Given the description of an element on the screen output the (x, y) to click on. 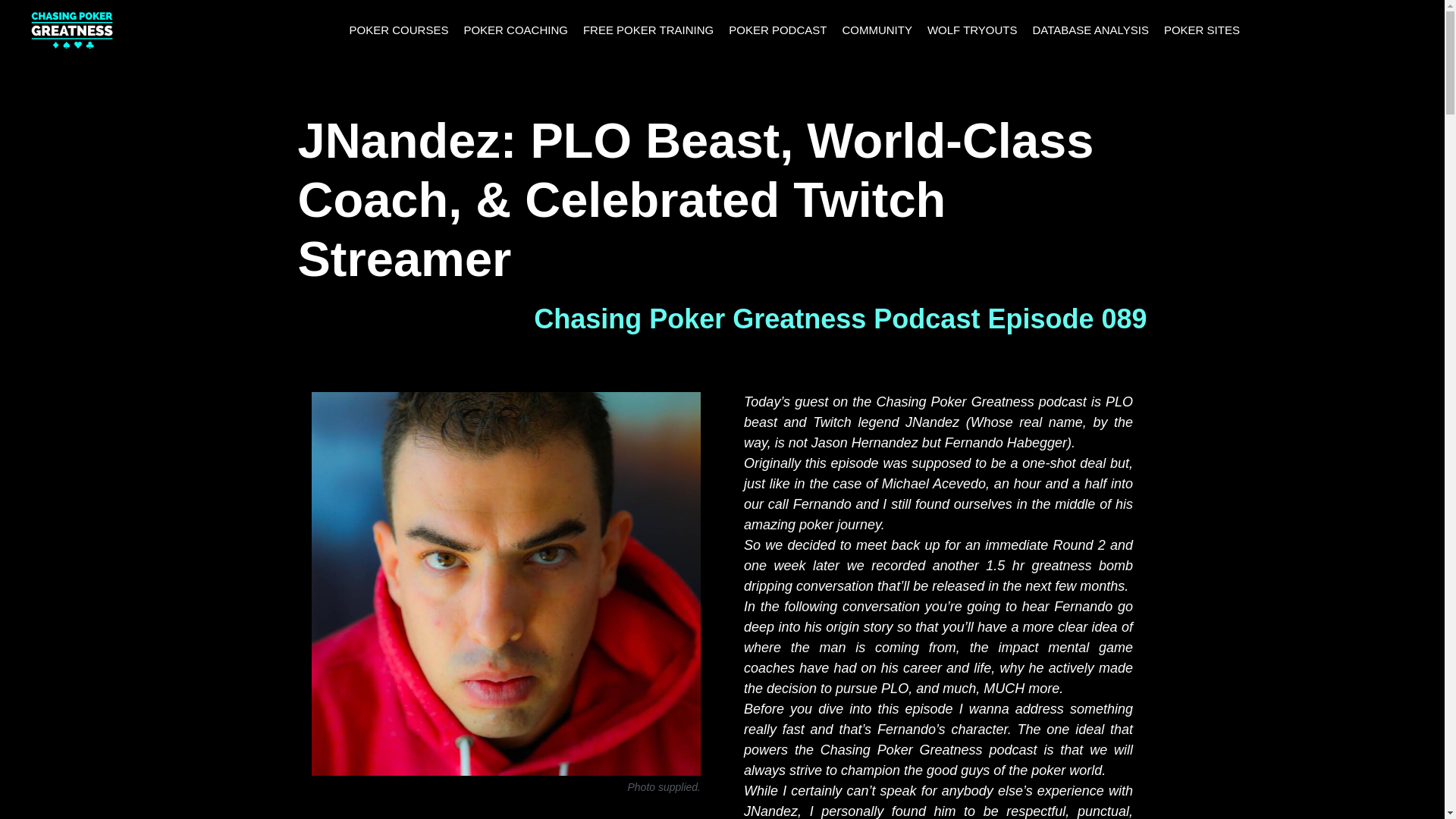
Poker Sites (1201, 30)
Community (877, 30)
FREE POKER TRAINING (647, 30)
POKER COURSES (399, 30)
Free Poker Training (647, 30)
Poker Courses (399, 30)
Database Analysis (1090, 30)
POKER COACHING (515, 30)
POKER SITES (1201, 30)
POKER PODCAST (777, 30)
COMMUNITY (877, 30)
WOLF TRYOUTS (972, 30)
DATABASE ANALYSIS (1090, 30)
Poker Podcast (777, 30)
